Given the description of an element on the screen output the (x, y) to click on. 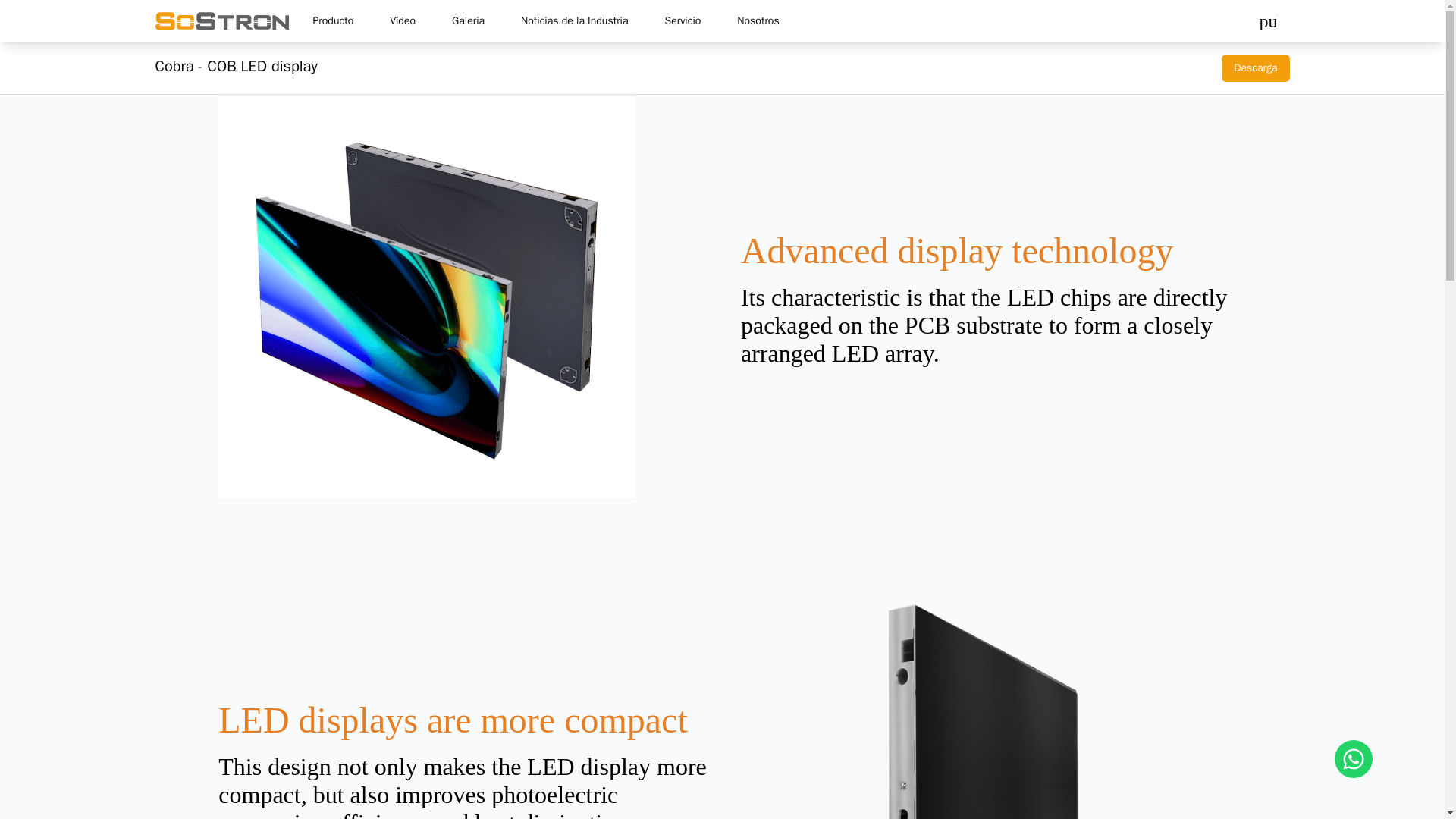
Descarga (1254, 67)
Nosotros (757, 21)
Nosotros (757, 21)
Producto (333, 21)
Producto (333, 21)
Noticias de la Industria (574, 21)
Noticias de la Industria (574, 21)
